Given the description of an element on the screen output the (x, y) to click on. 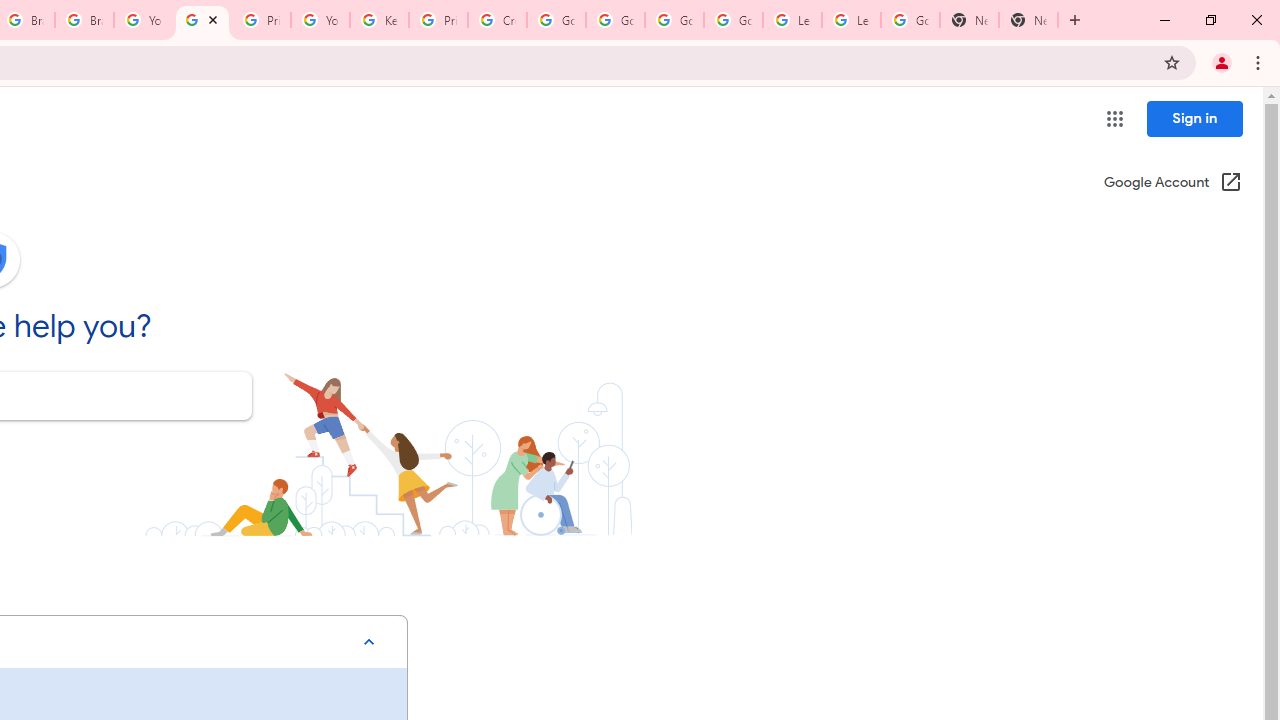
Google Account Help (733, 20)
Google Account Help (674, 20)
New Tab (1028, 20)
